Given the description of an element on the screen output the (x, y) to click on. 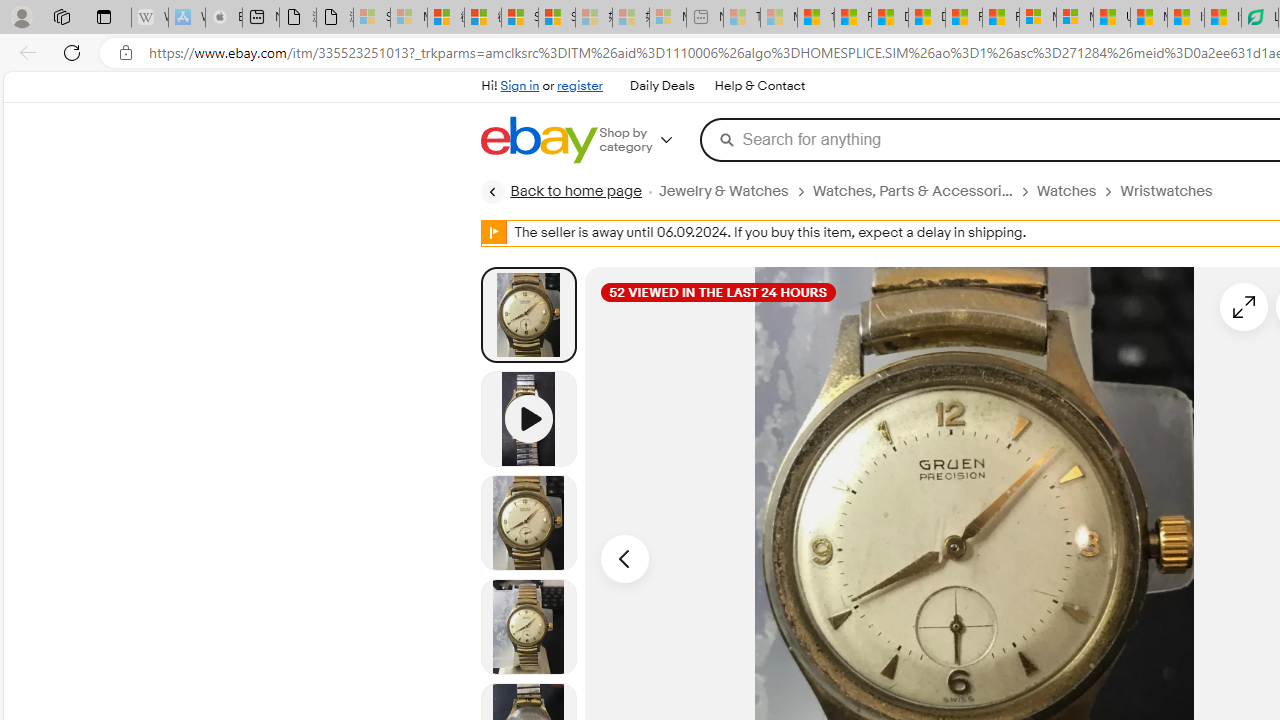
Help & Contact (758, 85)
Previous image - Item images thumbnails (624, 558)
Picture 3 of 13 (528, 625)
Picture 1 of 13 (528, 314)
US Heat Deaths Soared To Record High Last Year (1112, 17)
Foo BAR | Trusted Community Engagement and Contributions (1000, 17)
WARNING (493, 232)
Jewelry & Watches (722, 191)
Picture 2 of 13 (528, 521)
Buy iPad - Apple - Sleeping (223, 17)
